Given the description of an element on the screen output the (x, y) to click on. 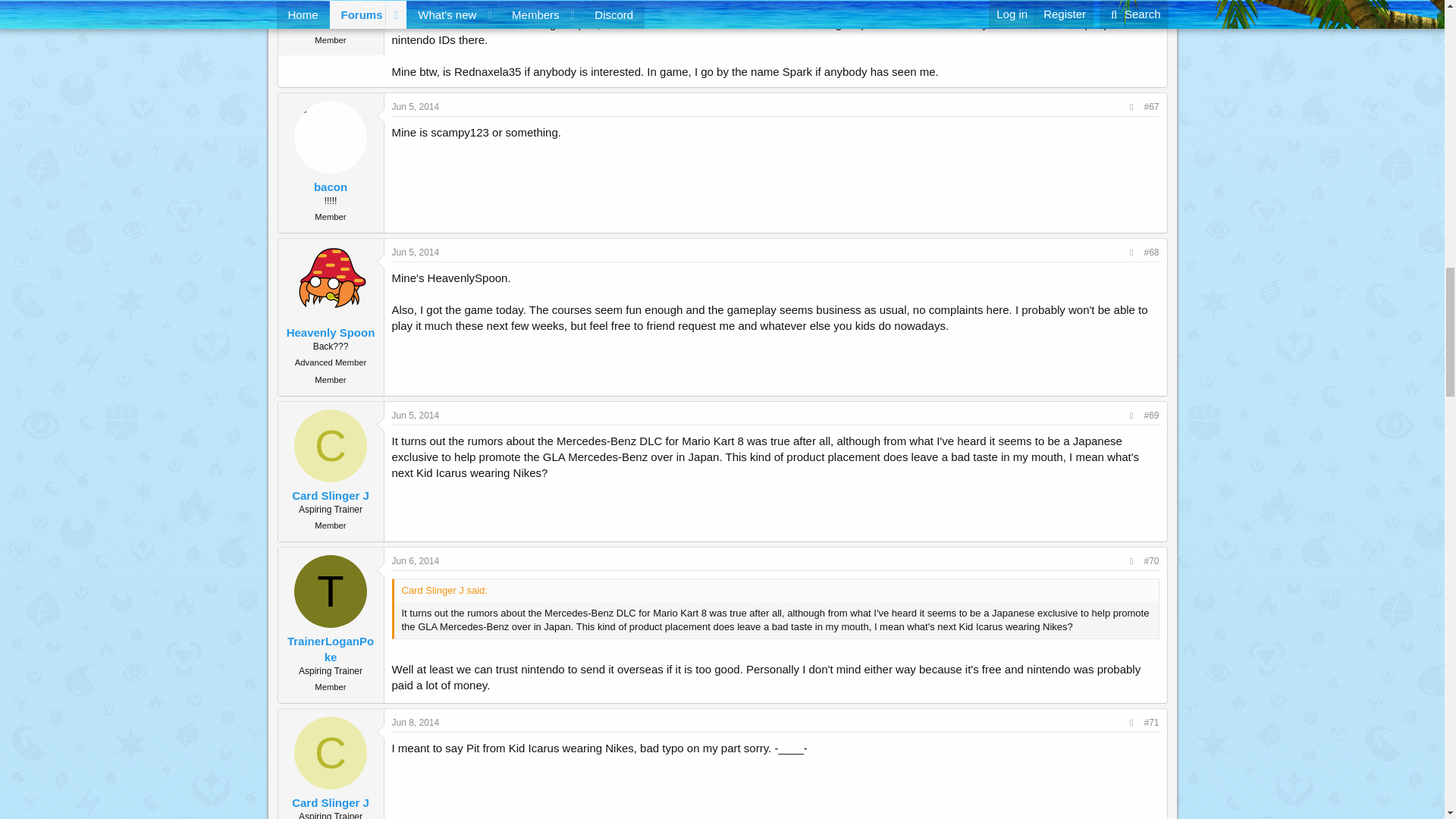
Jun 5, 2014 at 12:14 PM (415, 106)
